Given the description of an element on the screen output the (x, y) to click on. 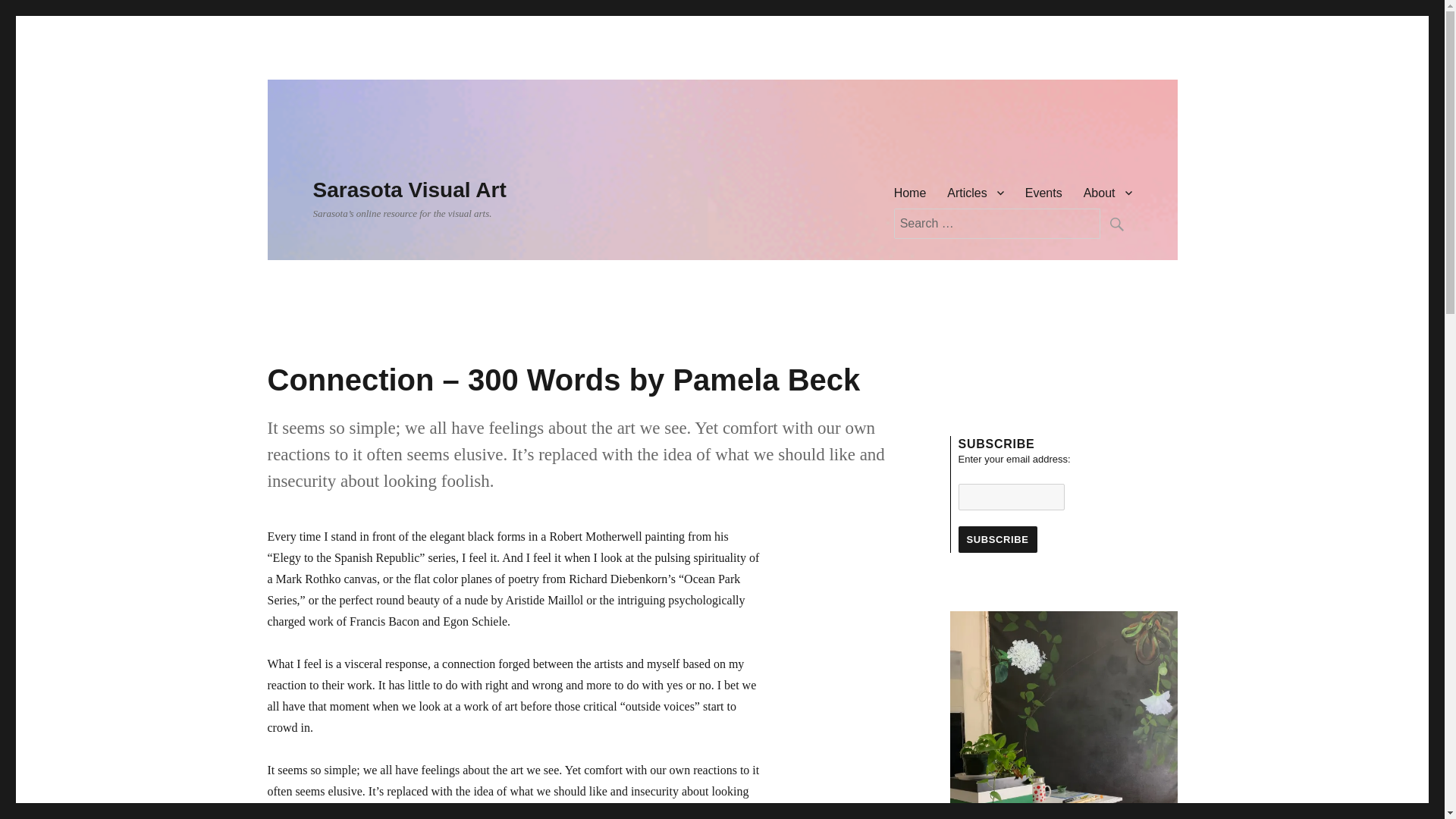
Subscribe (997, 539)
Events (1043, 192)
Articles (974, 192)
SEARCH (1115, 223)
Subscribe (997, 539)
About (1107, 192)
Home (910, 192)
Featured Articles (974, 192)
Sarasota Visual Art (409, 189)
